Given the description of an element on the screen output the (x, y) to click on. 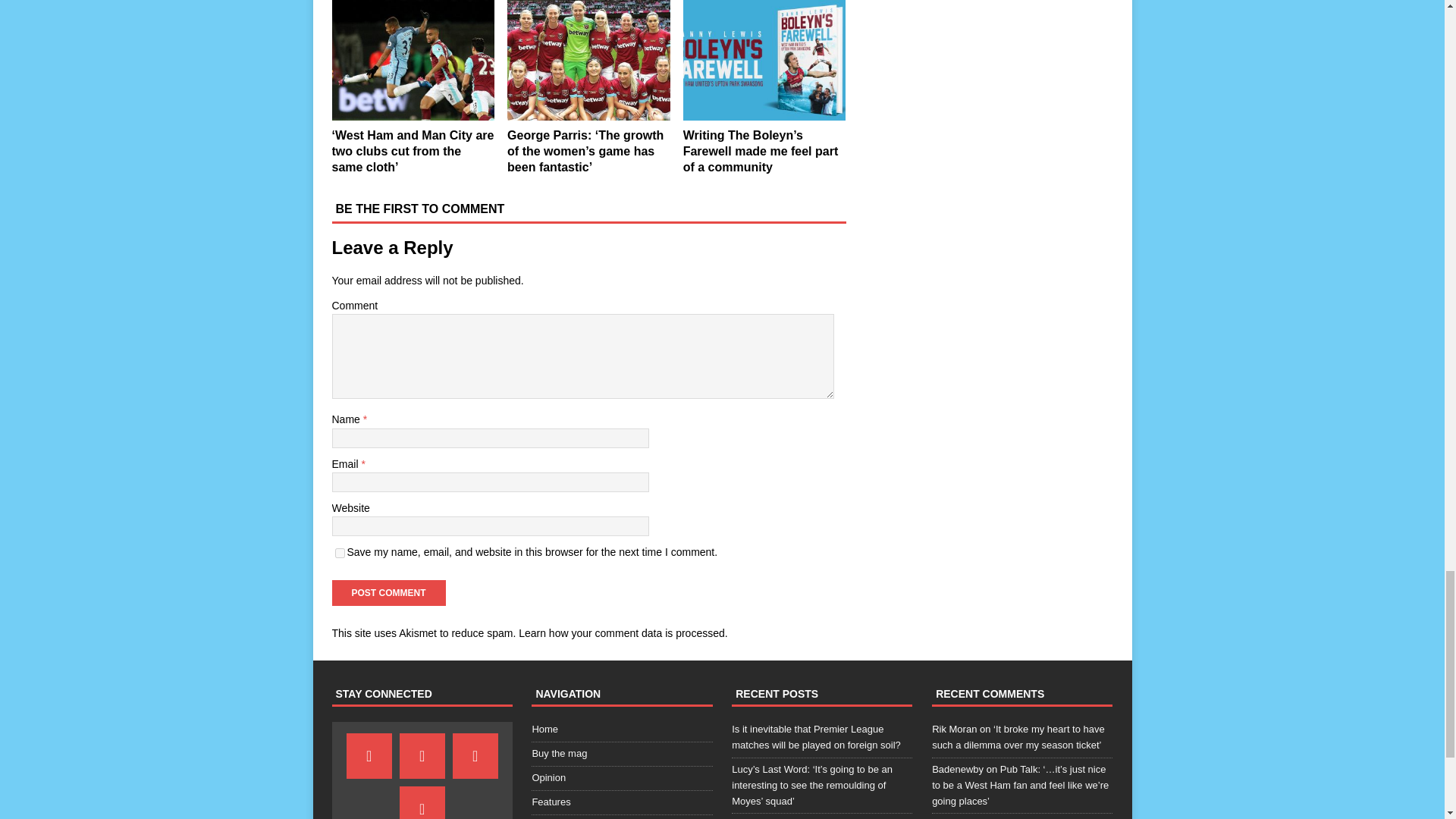
yes (339, 552)
Post Comment (388, 592)
